Given the description of an element on the screen output the (x, y) to click on. 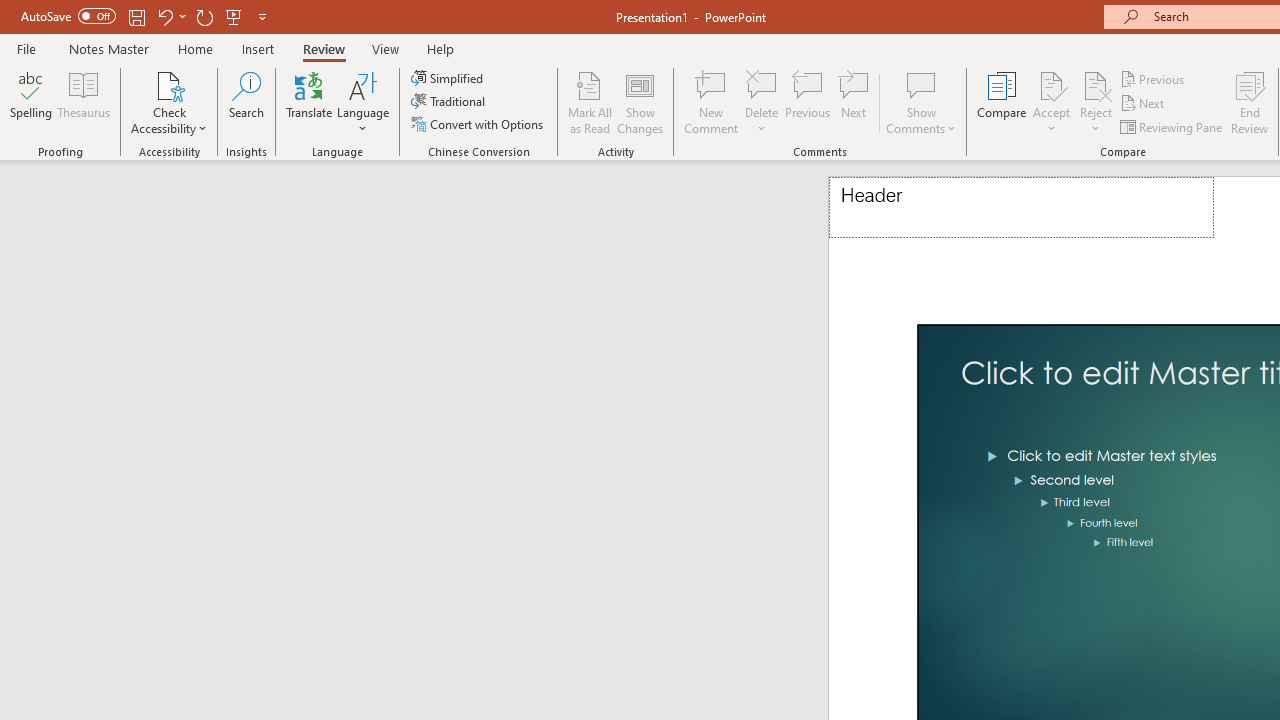
Traditional (449, 101)
